Given the description of an element on the screen output the (x, y) to click on. 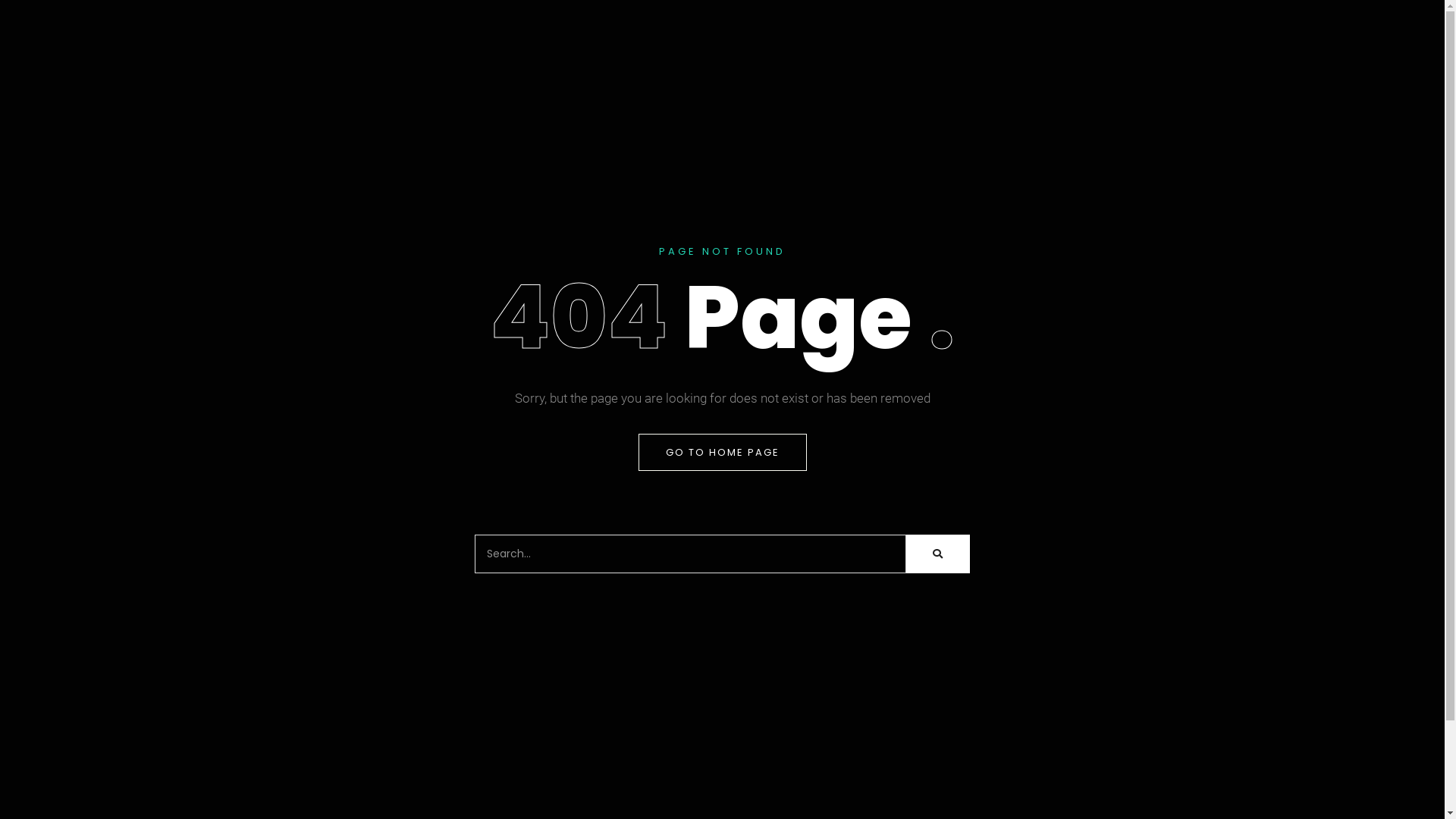
GO TO HOME PAGE Element type: text (722, 451)
